Given the description of an element on the screen output the (x, y) to click on. 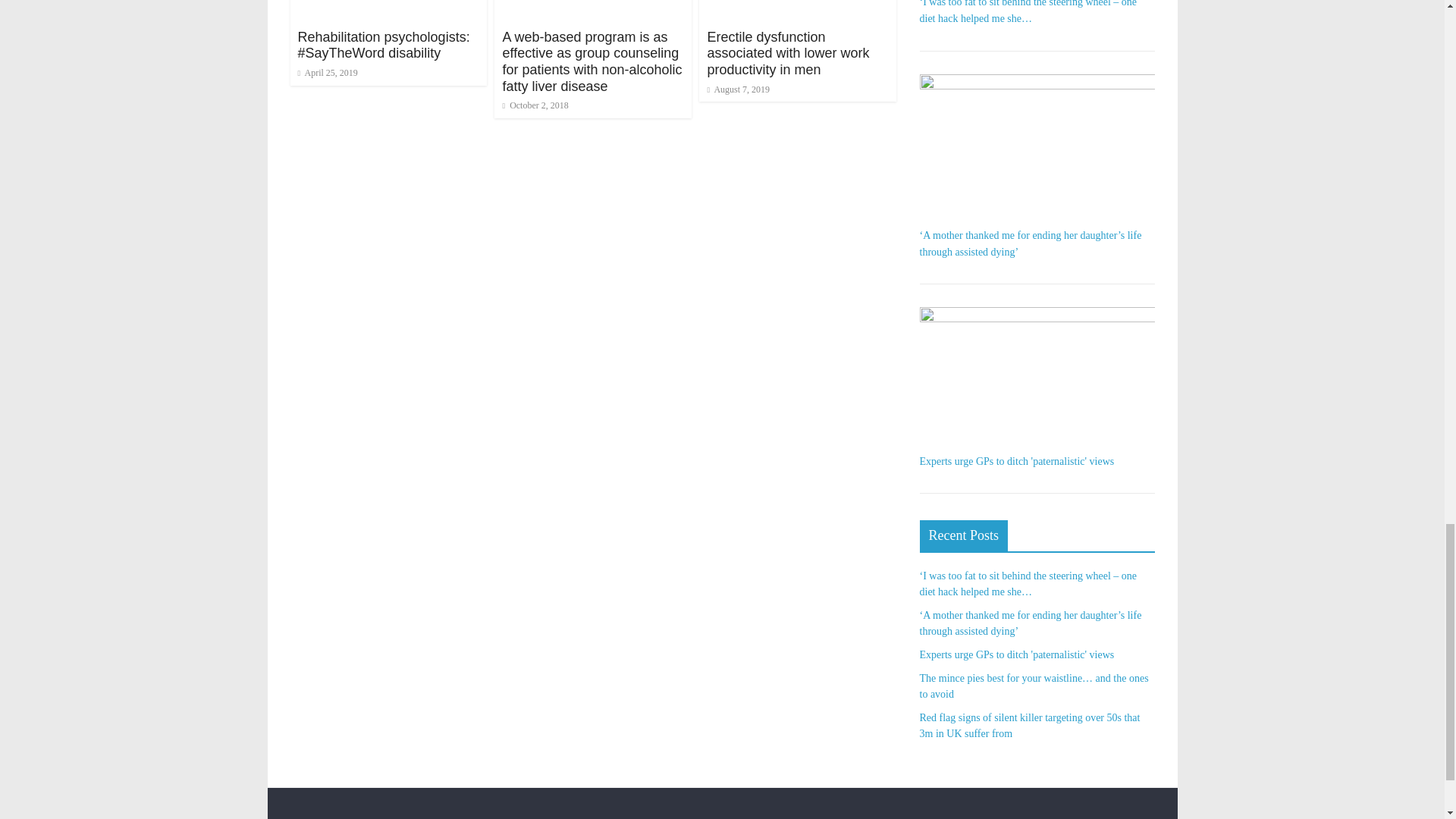
8:37 am (738, 89)
October 2, 2018 (534, 104)
12:07 pm (534, 104)
10:37 pm (326, 72)
August 7, 2019 (738, 89)
April 25, 2019 (326, 72)
